Given the description of an element on the screen output the (x, y) to click on. 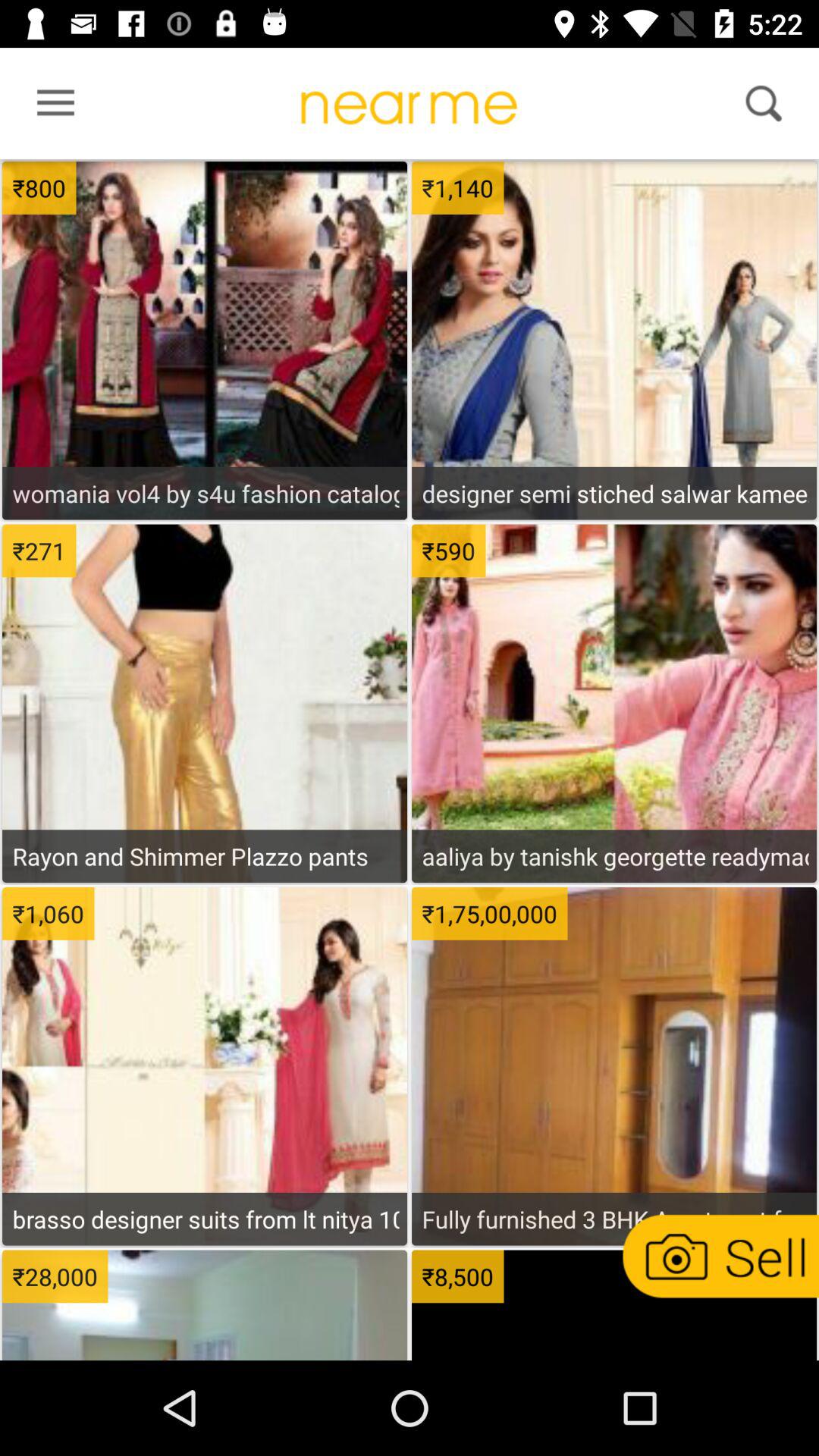
click the designer semi stiched (613, 492)
